Given the description of an element on the screen output the (x, y) to click on. 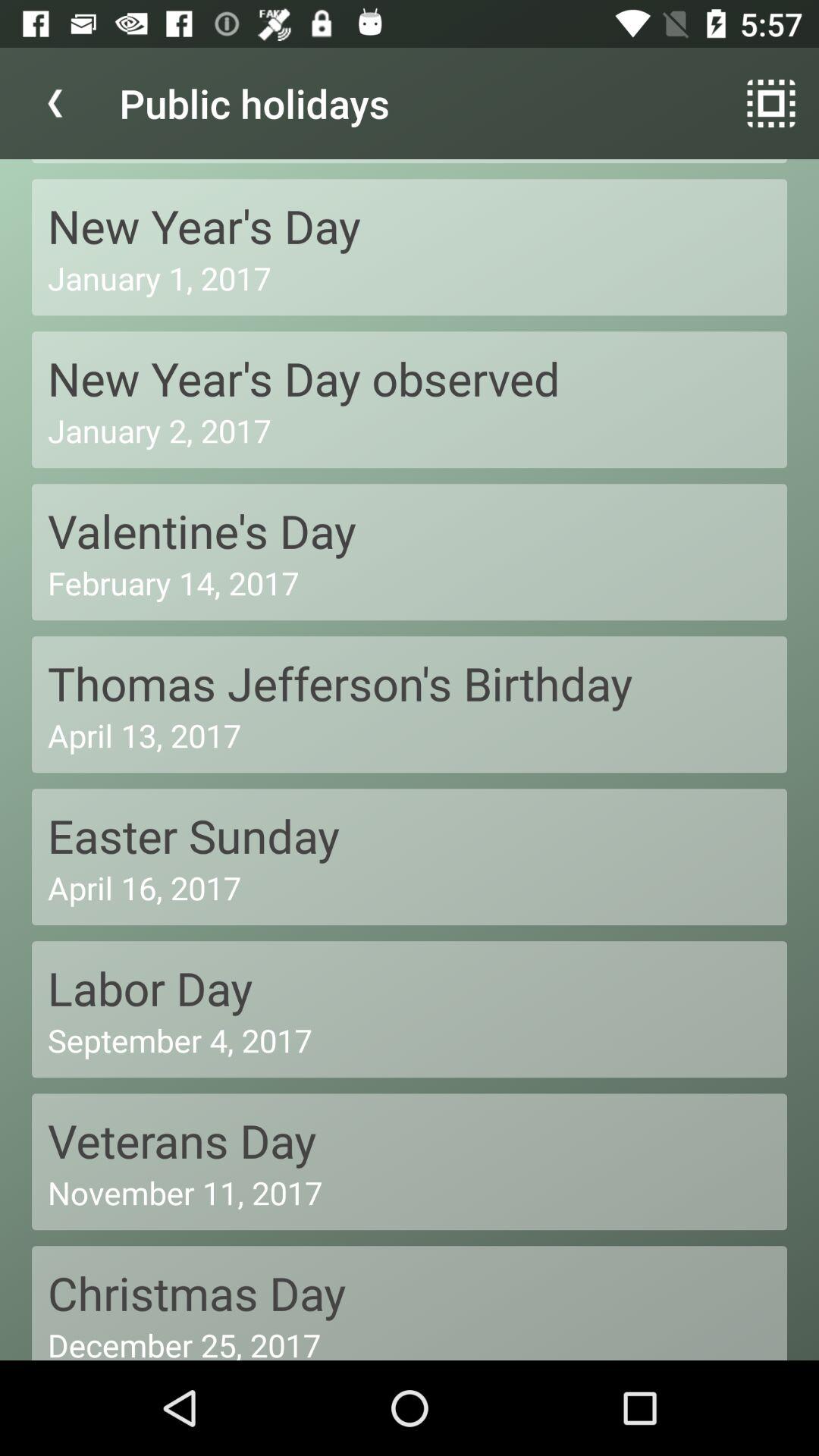
launch easter sunday (409, 835)
